Given the description of an element on the screen output the (x, y) to click on. 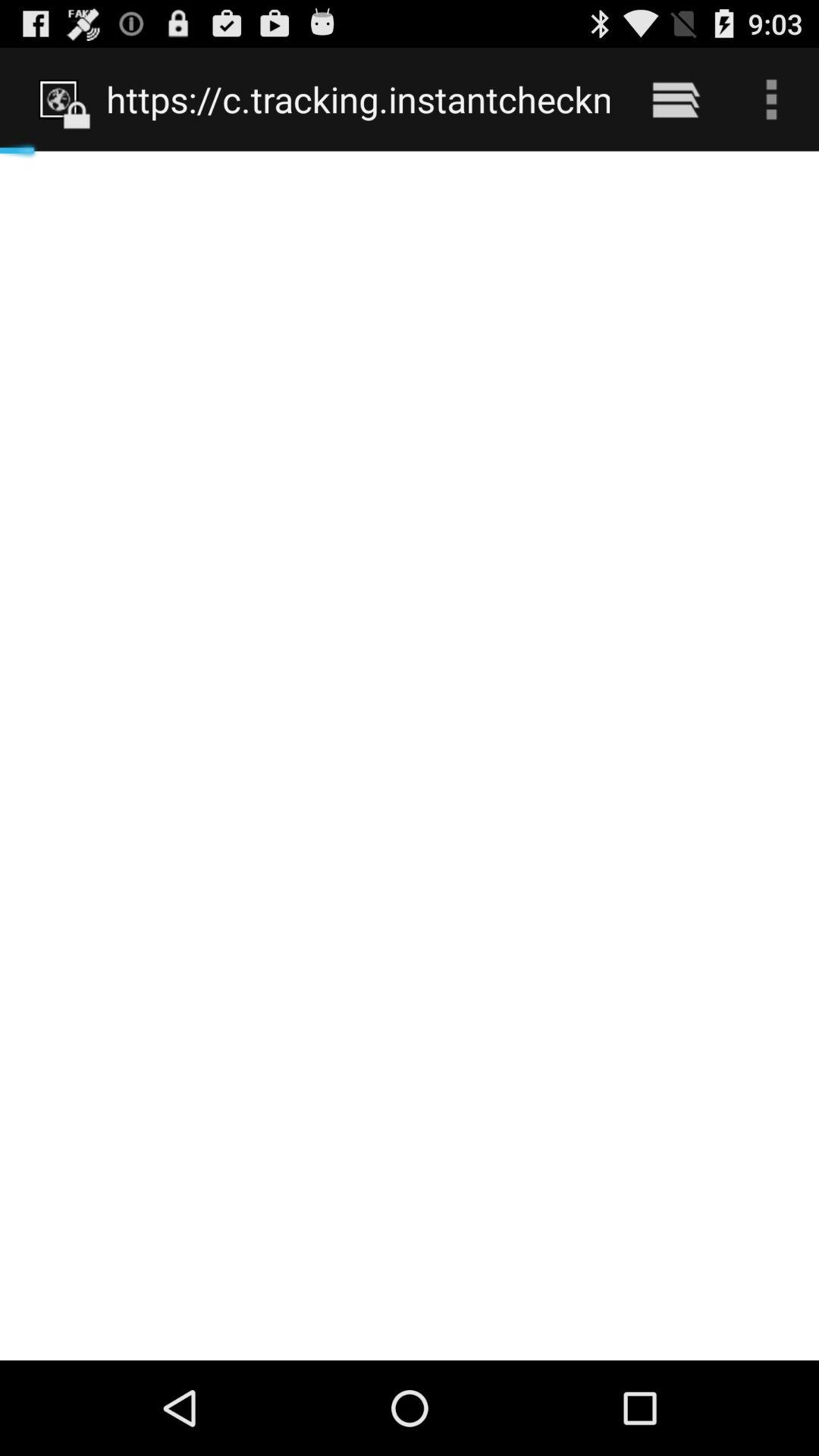
choose icon next to the https www phone (675, 99)
